Given the description of an element on the screen output the (x, y) to click on. 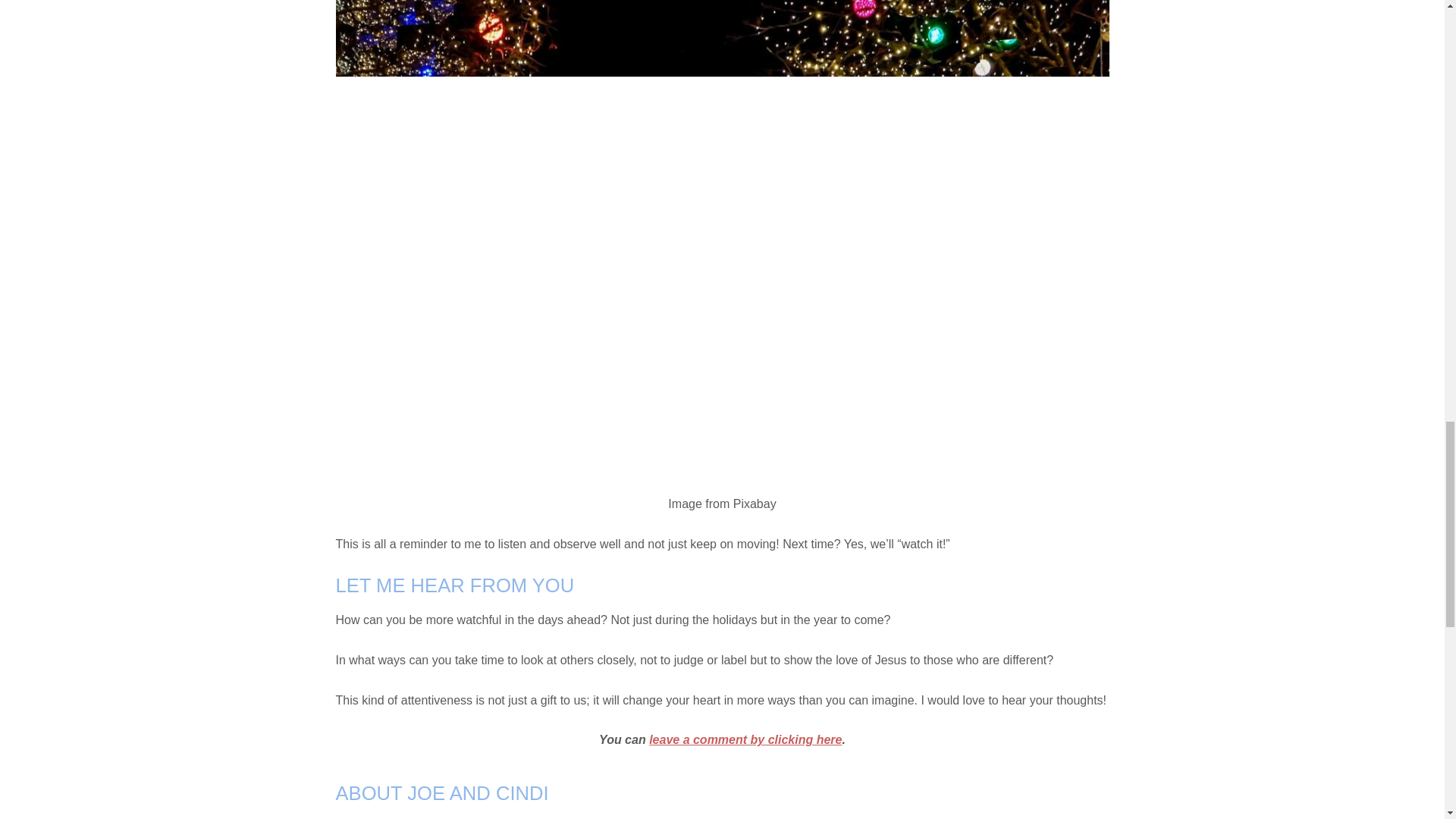
leave a comment by clicking here (745, 739)
